Given the description of an element on the screen output the (x, y) to click on. 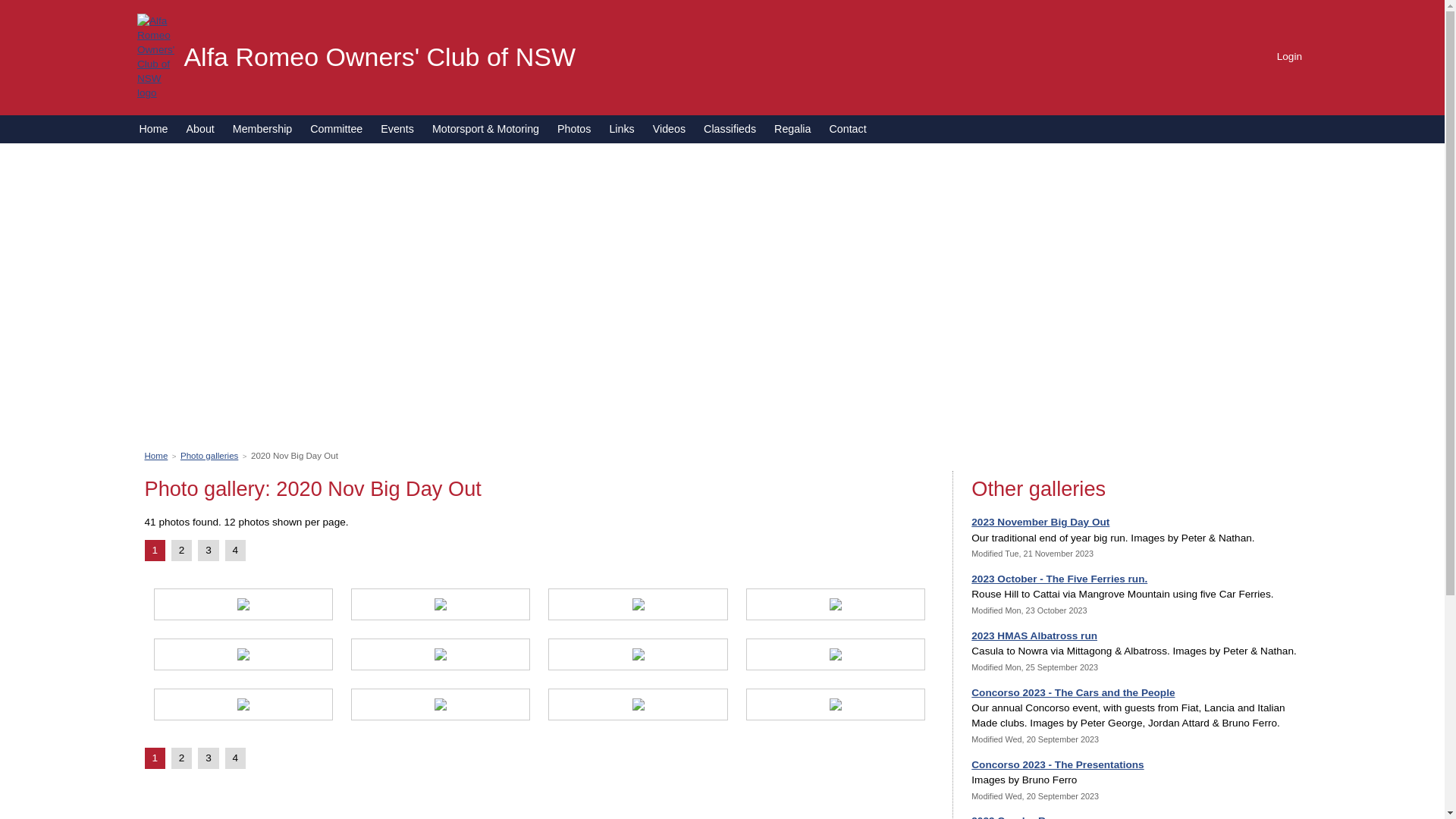
About Element type: text (200, 128)
View photo 5 Element type: hover (243, 656)
4 Element type: text (235, 550)
Login Element type: text (1282, 56)
View photo 11 Element type: hover (638, 706)
Photo 4 Element type: hover (835, 604)
Photo galleries Element type: text (209, 455)
Photo 8 Element type: hover (835, 654)
Concorso 2023 - The Presentations Element type: text (1057, 764)
Photo 2 Element type: hover (440, 604)
2023 October - The Five Ferries run. Element type: text (1059, 578)
View photo 2 Element type: hover (440, 606)
Videos Element type: text (668, 128)
View photo 9 Element type: hover (243, 706)
Photo 7 Element type: hover (637, 654)
2 Element type: text (181, 757)
Contact Element type: text (847, 128)
Photo 10 Element type: hover (440, 704)
2 Element type: text (181, 550)
Home Element type: text (155, 455)
4 Element type: text (235, 757)
3 Element type: text (208, 757)
Classifieds Element type: text (729, 128)
Motorsport & Motoring Element type: text (485, 128)
Photo 12 Element type: hover (835, 704)
Photos Element type: text (573, 128)
Photo 3 Element type: hover (637, 604)
View photo 3 Element type: hover (638, 606)
View photo 7 Element type: hover (638, 656)
View photo 1 Element type: hover (243, 606)
Photo 1 Element type: hover (242, 604)
Concorso 2023 - The Cars and the People Element type: text (1072, 692)
Photo 5 Element type: hover (242, 654)
Photo 11 Element type: hover (637, 704)
Photo 9 Element type: hover (242, 704)
Events Element type: text (397, 128)
3 Element type: text (208, 550)
Alfa Romeo Owners' Club of NSW logo Element type: hover (155, 56)
Regalia Element type: text (792, 128)
Home page Element type: hover (155, 56)
Photo 6 Element type: hover (440, 654)
View photo 4 Element type: hover (835, 606)
2023 HMAS Albatross run Element type: text (1034, 635)
2023 November Big Day Out Element type: text (1040, 521)
View photo 6 Element type: hover (440, 656)
View photo 8 Element type: hover (835, 656)
Home Element type: text (152, 128)
Links Element type: text (621, 128)
Find us on Facebook at https://www.facebook.com/arocansw/ Element type: hover (1289, 27)
View photo 10 Element type: hover (440, 706)
Committee Element type: text (336, 128)
Membership Element type: text (262, 128)
View photo 12 Element type: hover (835, 706)
